Given the description of an element on the screen output the (x, y) to click on. 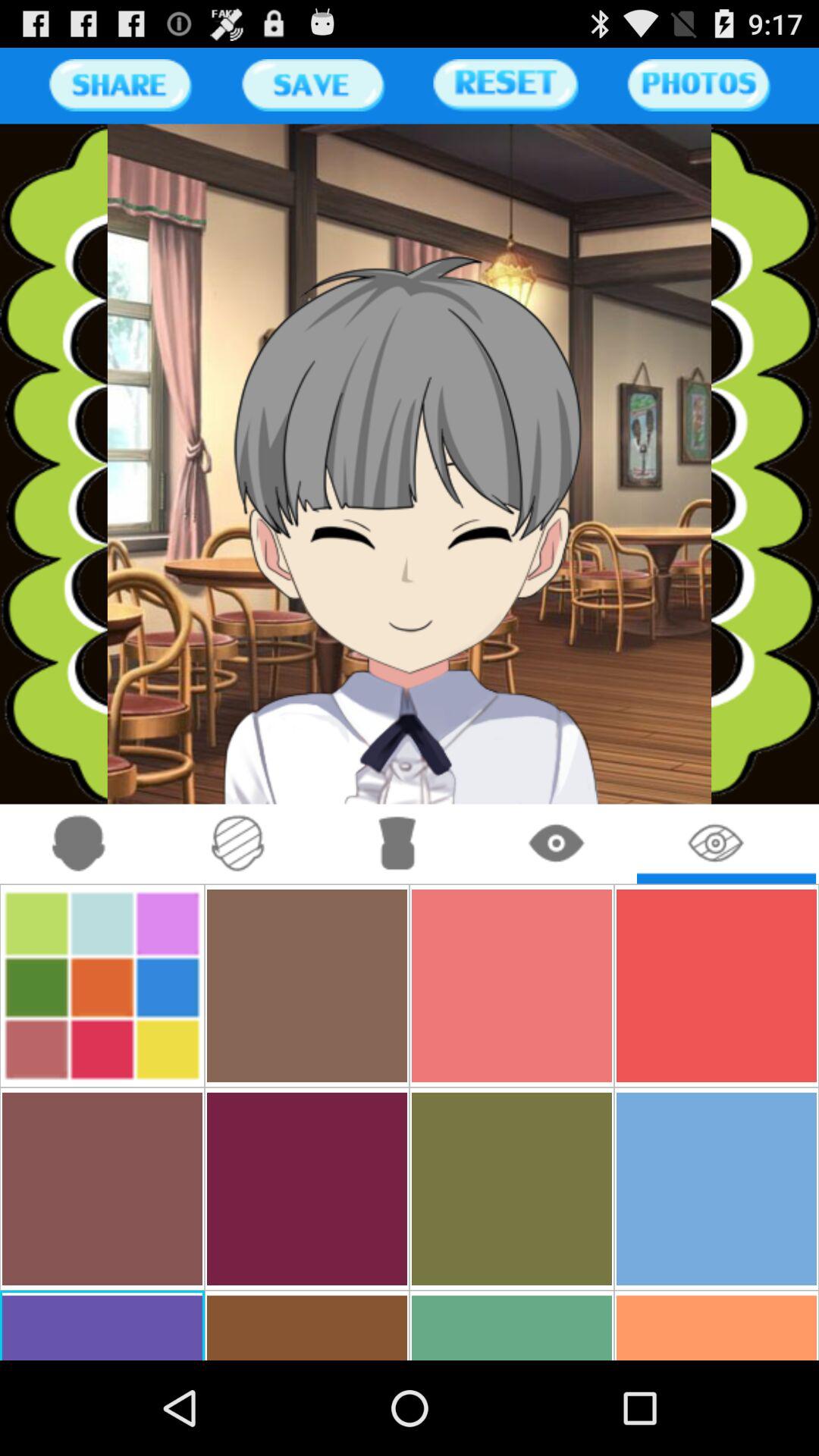
choose your hair style (397, 843)
